Given the description of an element on the screen output the (x, y) to click on. 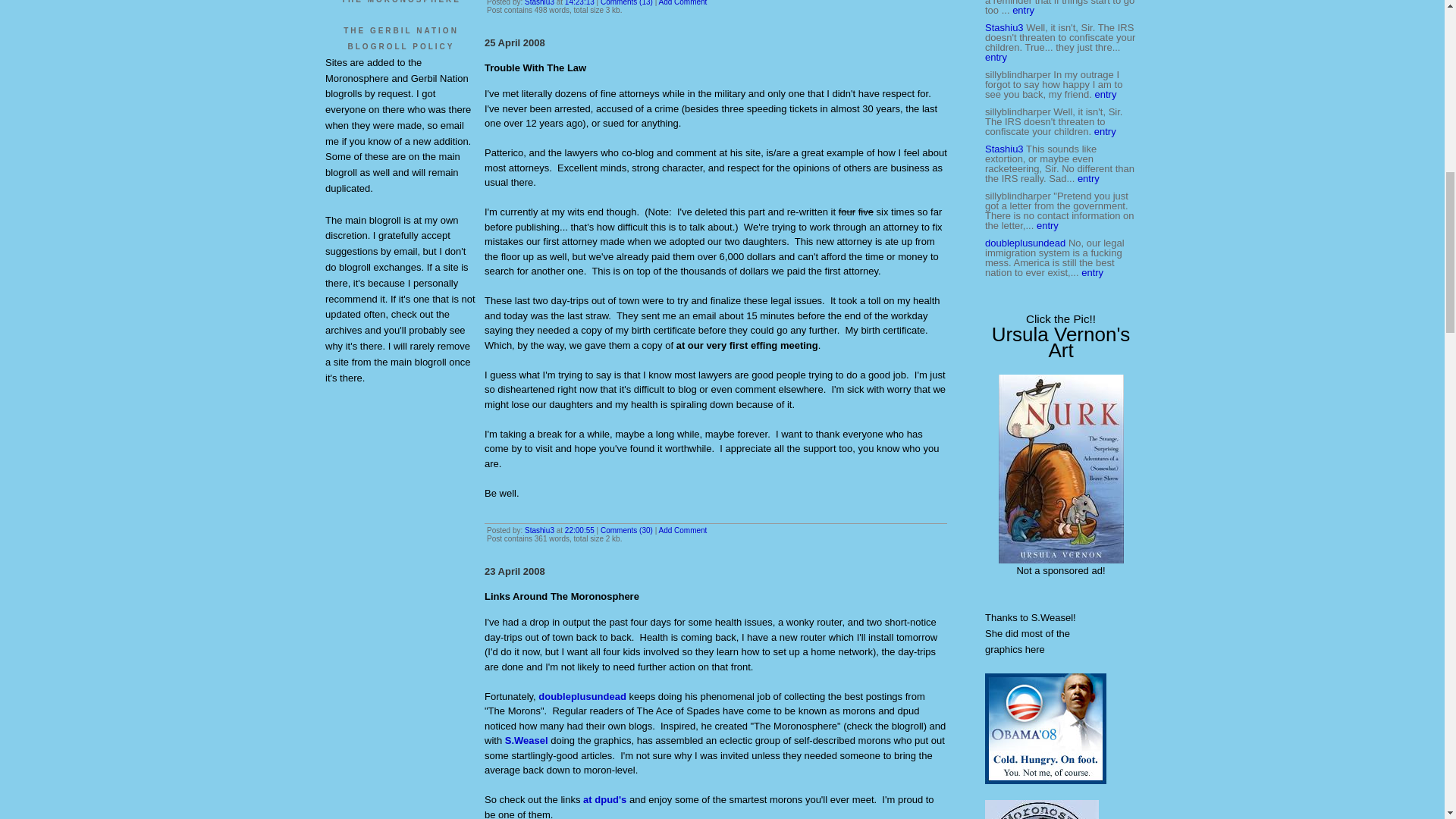
Stashiu3 (539, 2)
S.Weasel (526, 740)
14:23:13 (579, 2)
at dpud's (604, 799)
doubleplusundead (582, 696)
Add Comment (682, 2)
